Given the description of an element on the screen output the (x, y) to click on. 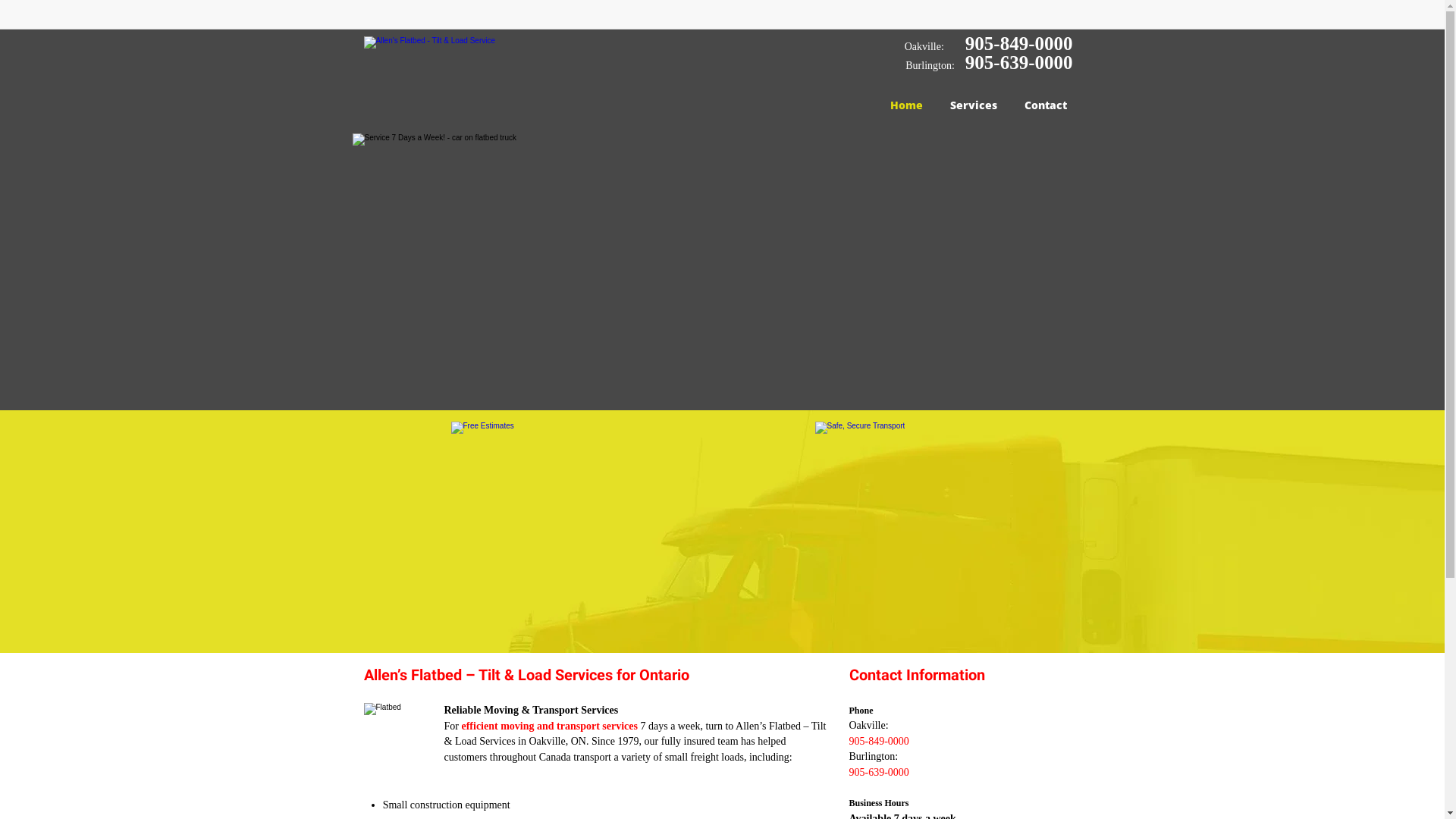
905-849-0000 Element type: text (879, 740)
905-849-0000 Element type: text (1019, 43)
Embedded Content Element type: hover (935, 15)
Contact Element type: text (1044, 105)
Services Element type: text (972, 105)
Home Element type: text (906, 105)
905-639-0000 Element type: text (1019, 62)
905-639-0000 Element type: text (879, 772)
efficient moving and transport services Element type: text (549, 725)
Embedded Content Element type: hover (1063, 19)
